Given the description of an element on the screen output the (x, y) to click on. 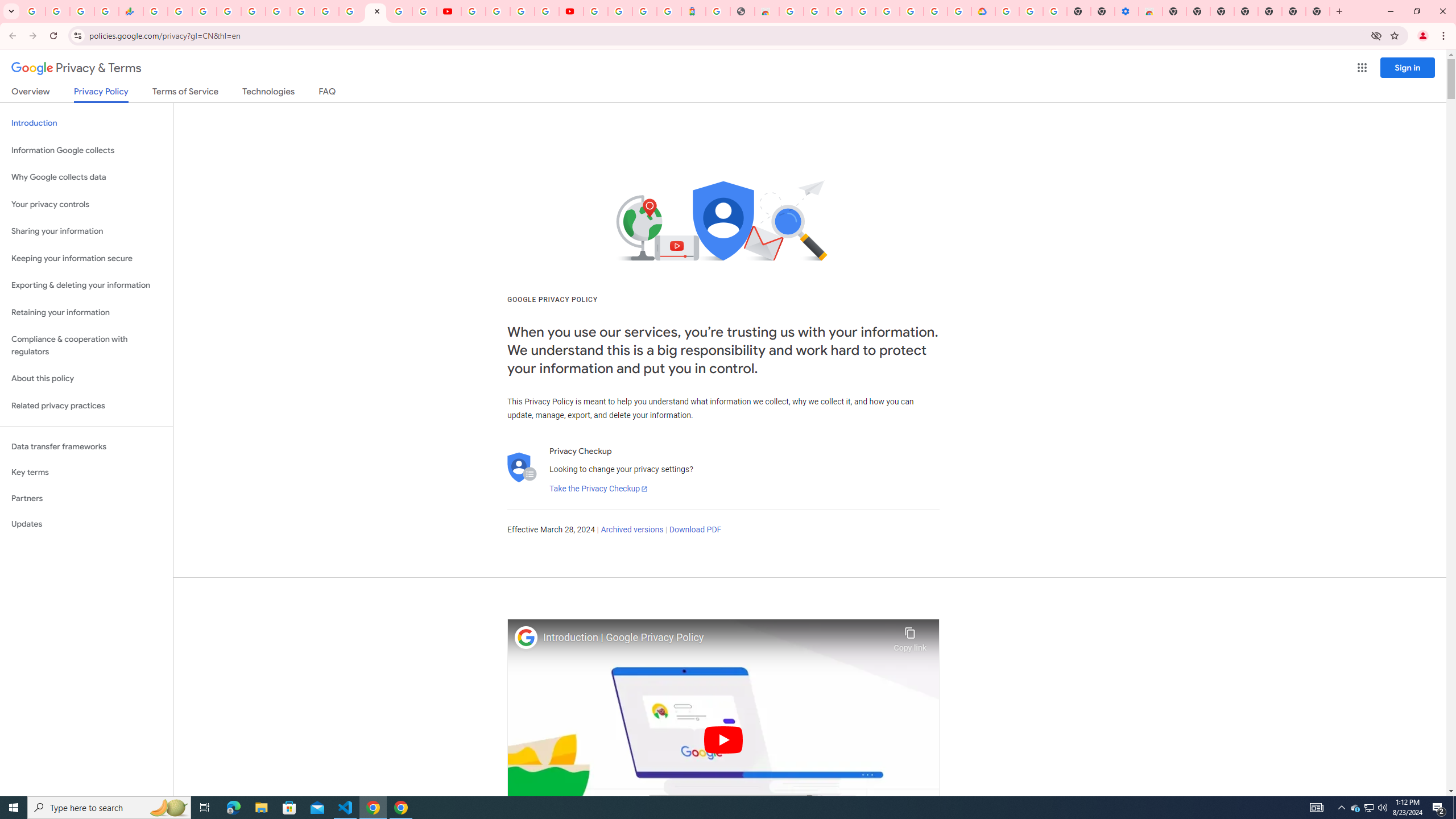
Play (723, 739)
Google Account Help (1030, 11)
Key terms (86, 472)
Related privacy practices (86, 405)
Turn cookies on or off - Computer - Google Account Help (1054, 11)
About this policy (86, 379)
Information Google collects (86, 150)
Content Creator Programs & Opportunities - YouTube Creators (570, 11)
Google Account Help (863, 11)
